Given the description of an element on the screen output the (x, y) to click on. 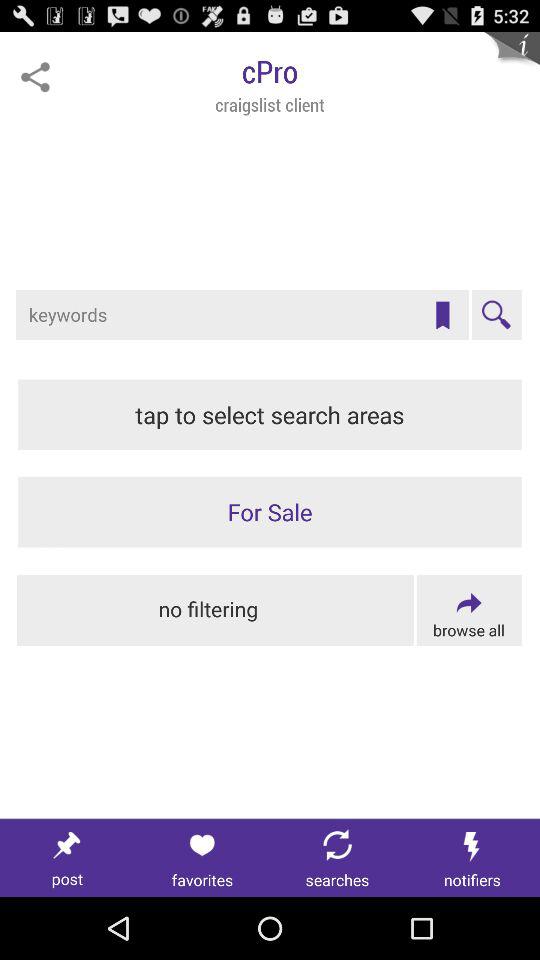
see more information (511, 59)
